Given the description of an element on the screen output the (x, y) to click on. 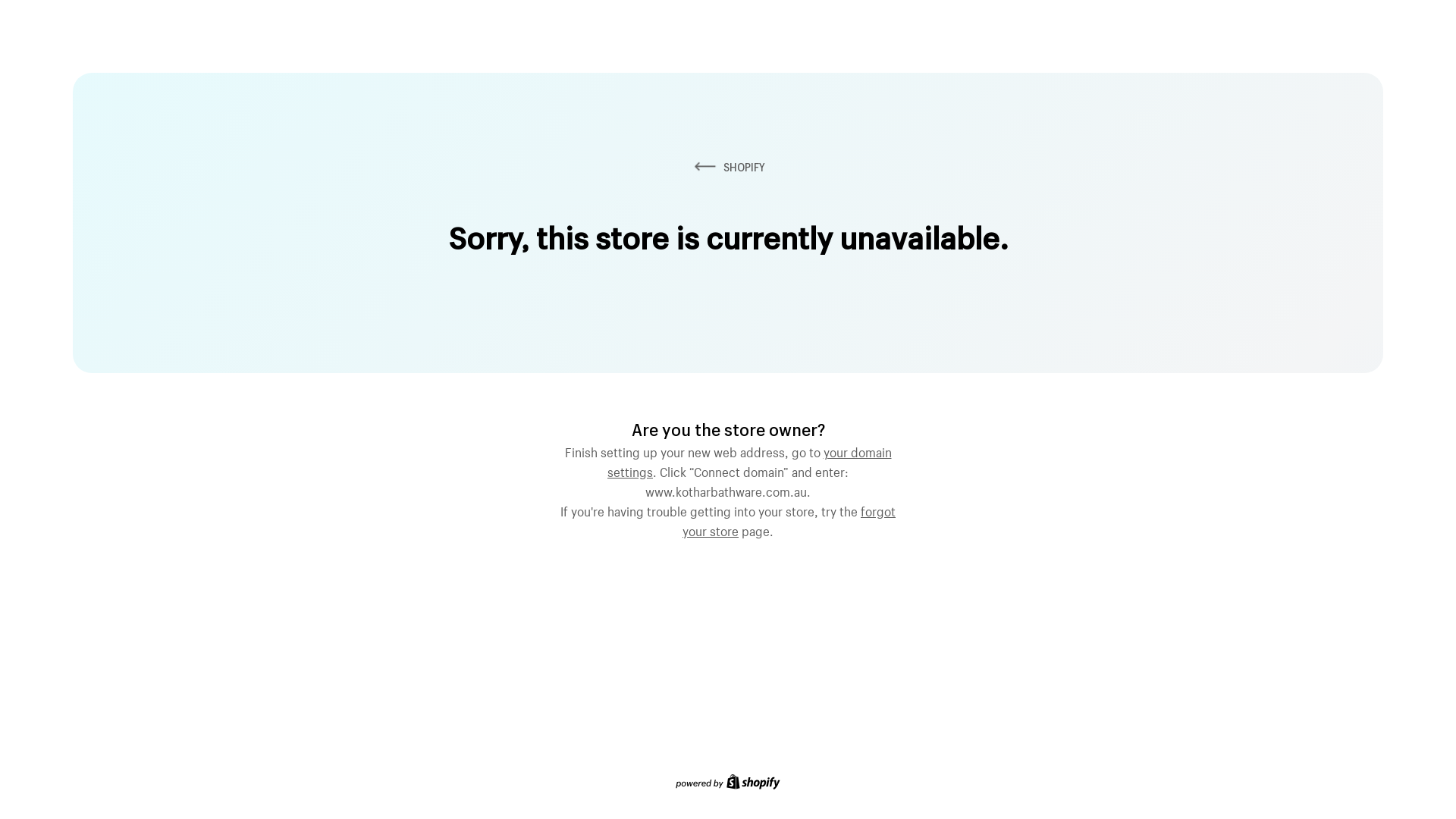
forgot your store Element type: text (788, 519)
SHOPIFY Element type: text (727, 167)
your domain settings Element type: text (749, 460)
